Given the description of an element on the screen output the (x, y) to click on. 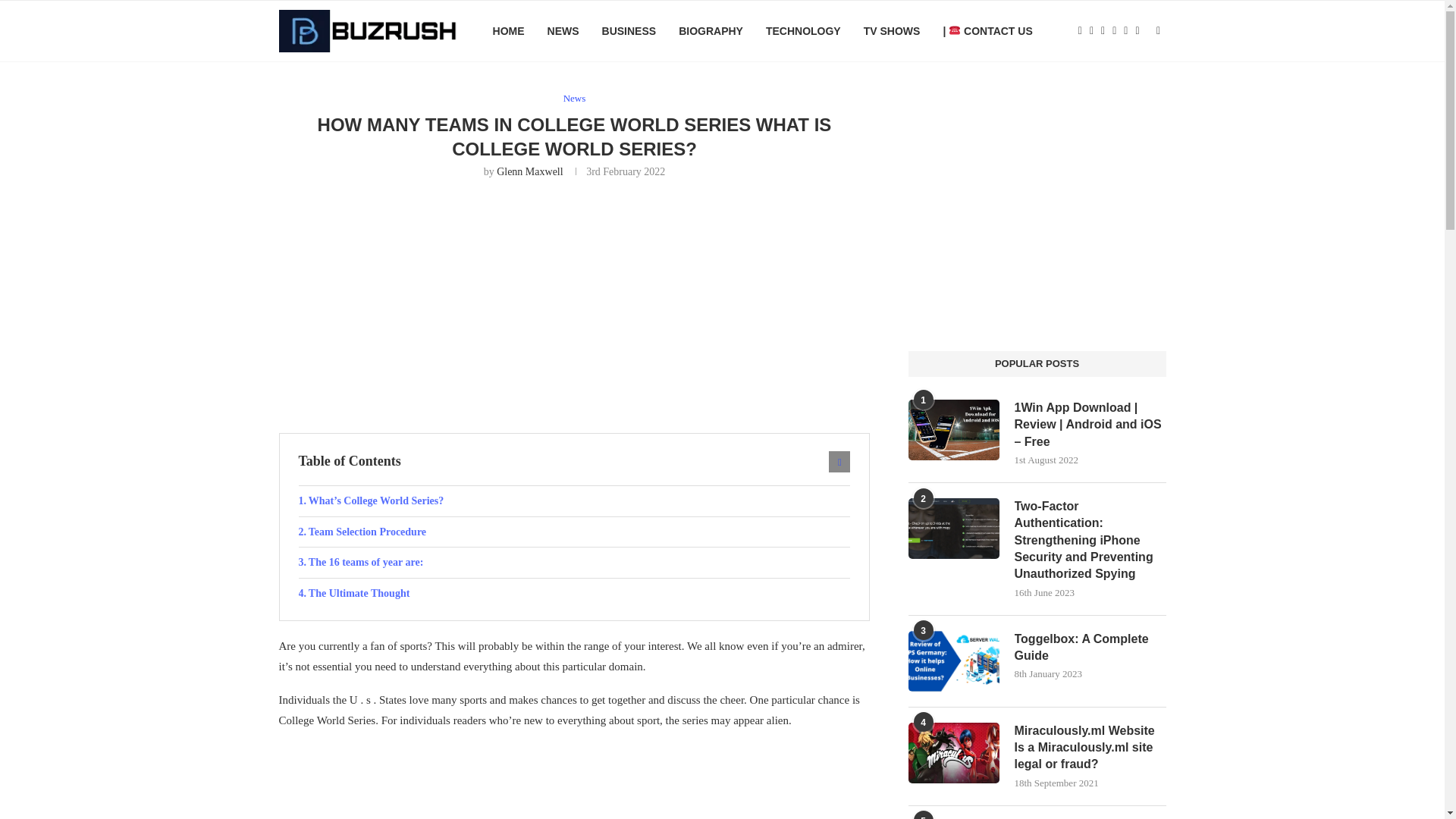
BIOGRAPHY (710, 30)
The Ultimate Thought (574, 593)
The Ultimate Thought (574, 593)
TV SHOWS (891, 30)
Team Selection Procedure (574, 531)
TECHNOLOGY (803, 30)
Team Selection Procedure (574, 531)
Advertisement (574, 304)
News (574, 98)
BUSINESS (629, 30)
The 16 teams of year are: (574, 562)
Glenn Maxwell (529, 171)
Advertisement (574, 781)
The 16 teams of year are: (574, 562)
